Given the description of an element on the screen output the (x, y) to click on. 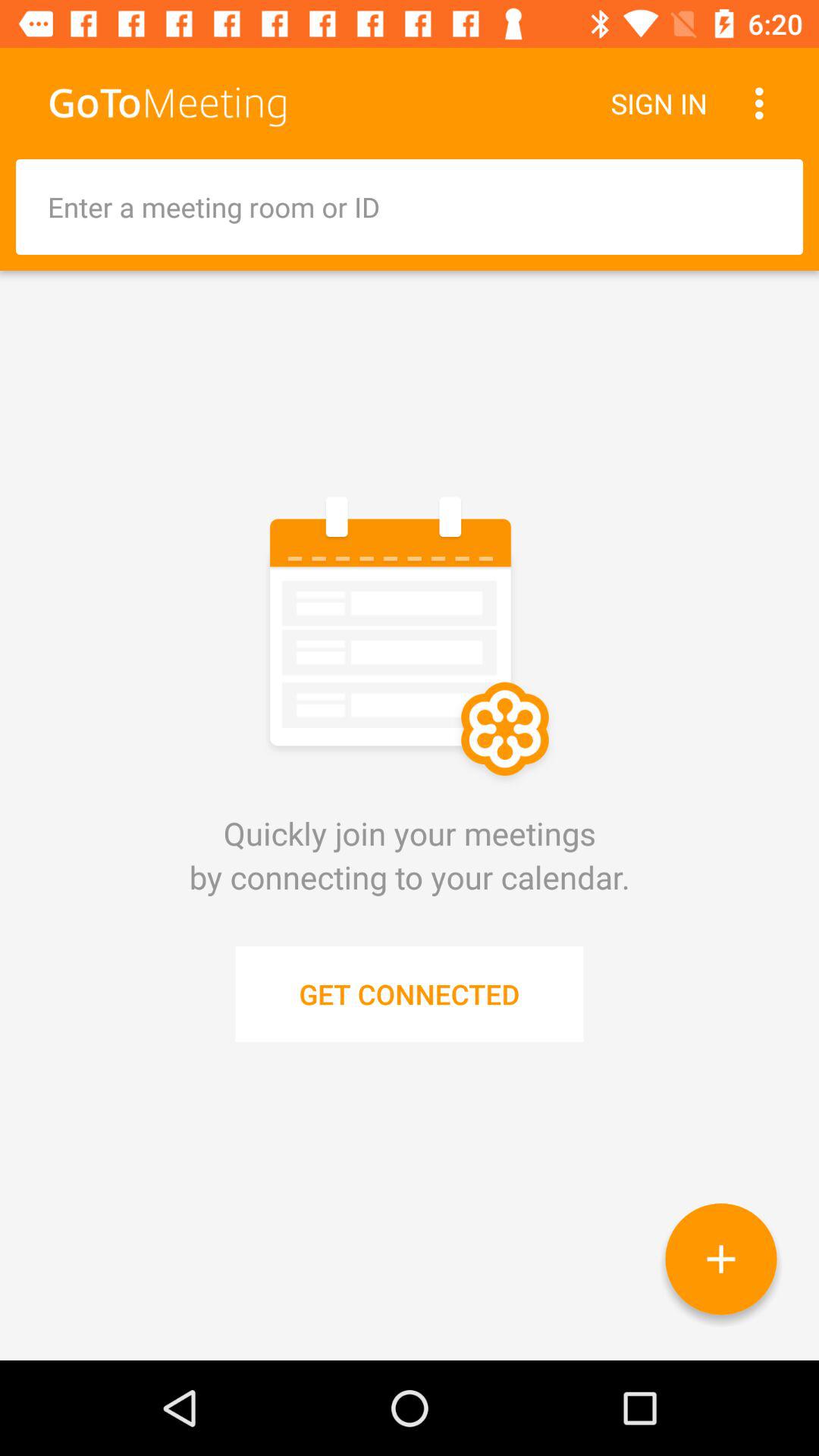
tap item to the right of sign in icon (763, 103)
